Given the description of an element on the screen output the (x, y) to click on. 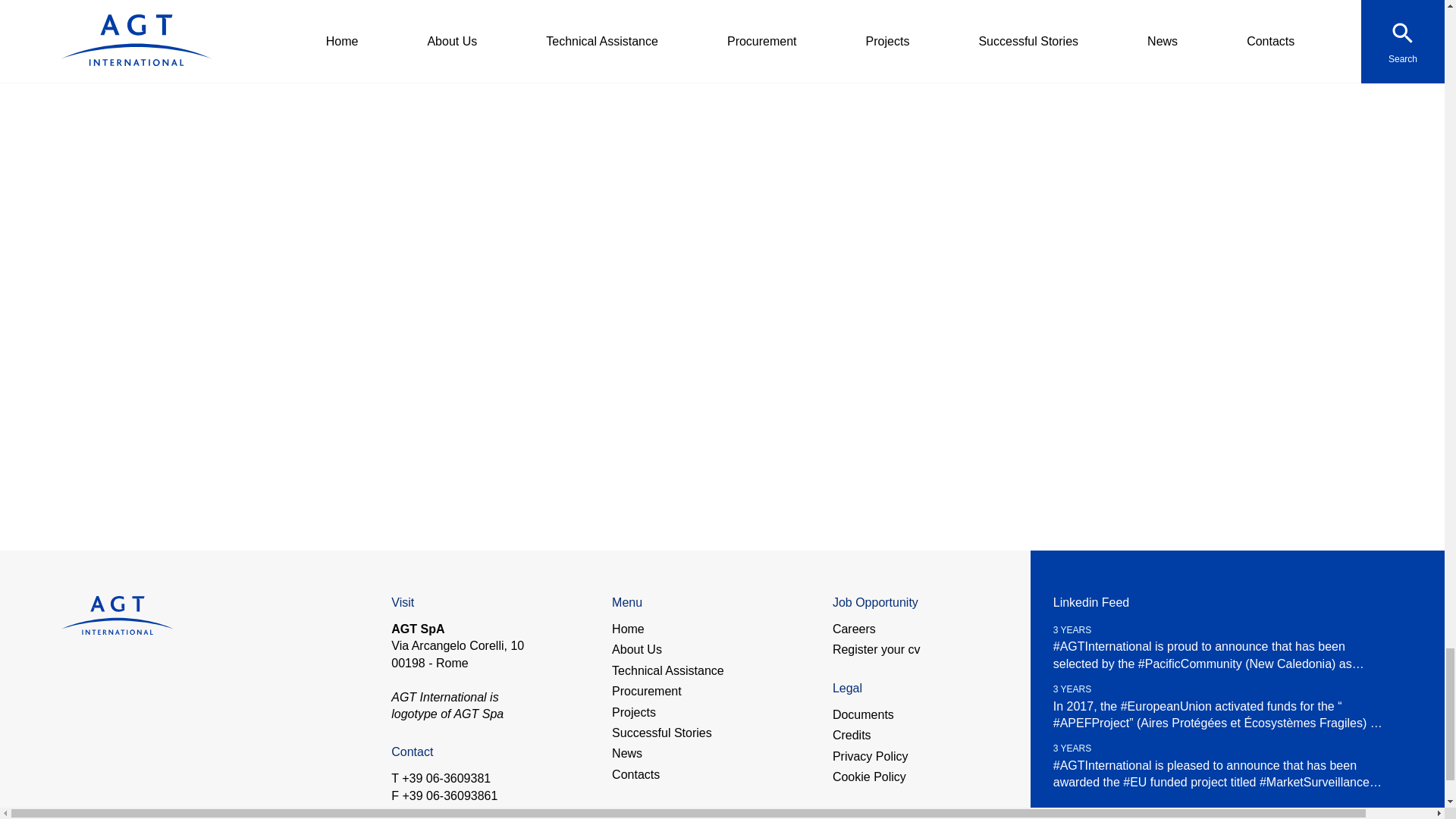
Register your cv (876, 649)
Cookie Policy  (868, 777)
Technical Assistance (667, 670)
Contacts (635, 774)
News (626, 753)
Successful Stories (661, 733)
Projects (633, 712)
Documents (862, 714)
Privacy Policy  (870, 756)
Procurement (646, 691)
